Given the description of an element on the screen output the (x, y) to click on. 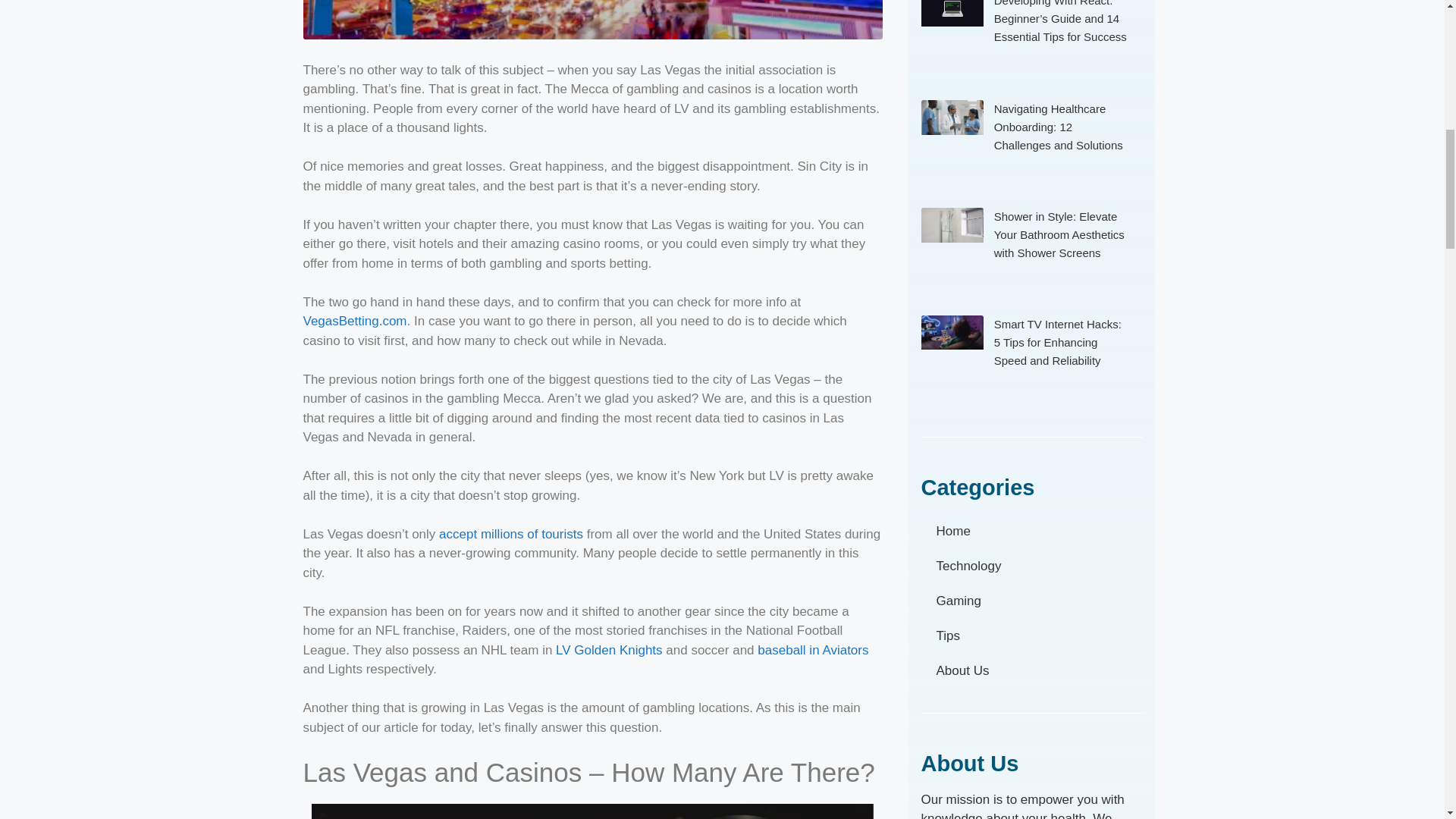
baseball in Aviators (812, 649)
VegasBetting.com (354, 320)
LV Golden Knights (606, 649)
accept millions of tourists (511, 533)
